Given the description of an element on the screen output the (x, y) to click on. 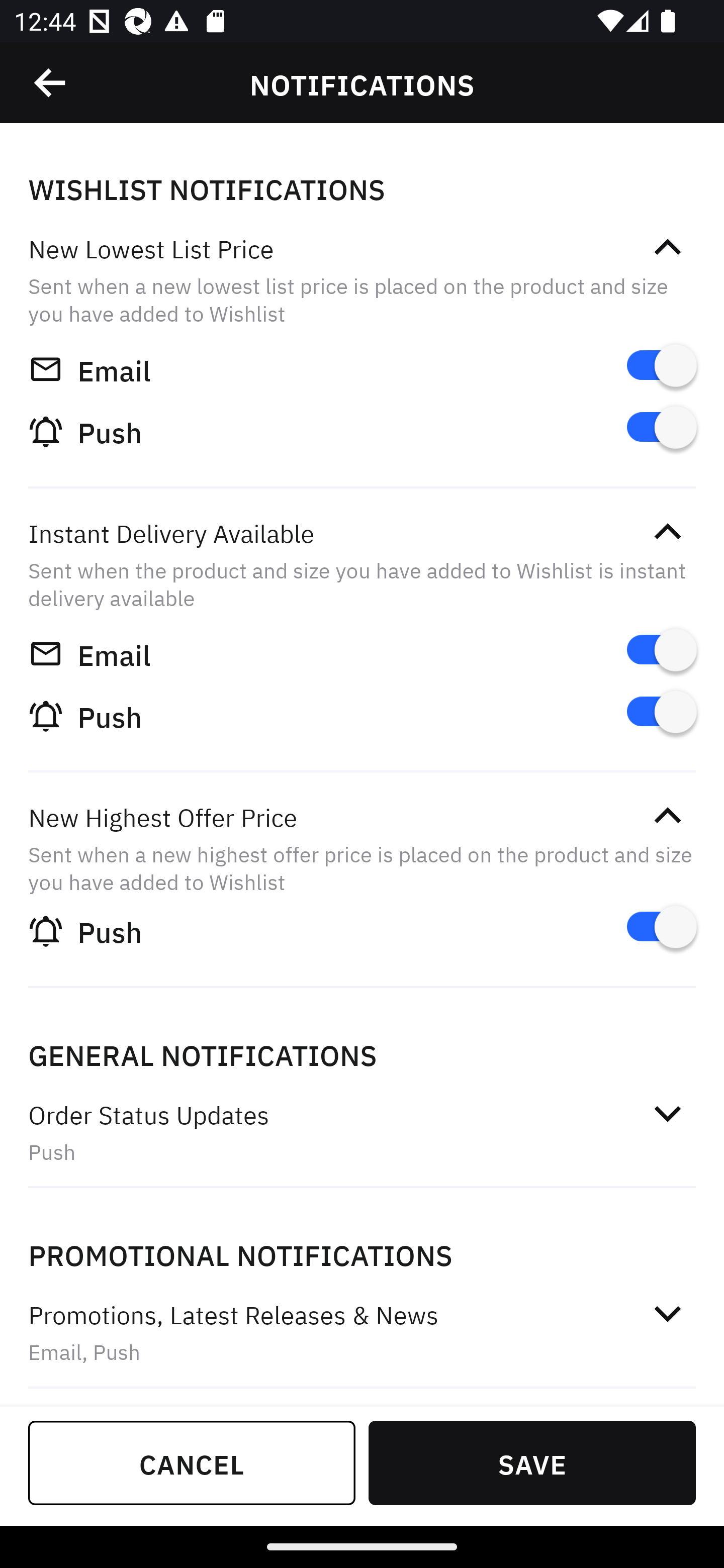
 (50, 83)
 (667, 247)
 (667, 532)
 (667, 815)
Order Status Updates  Push (361, 1132)
 (667, 1113)
Promotions, Latest Releases & News  Email, Push (361, 1332)
 (667, 1312)
CANCEL (191, 1462)
SAVE (531, 1462)
